Given the description of an element on the screen output the (x, y) to click on. 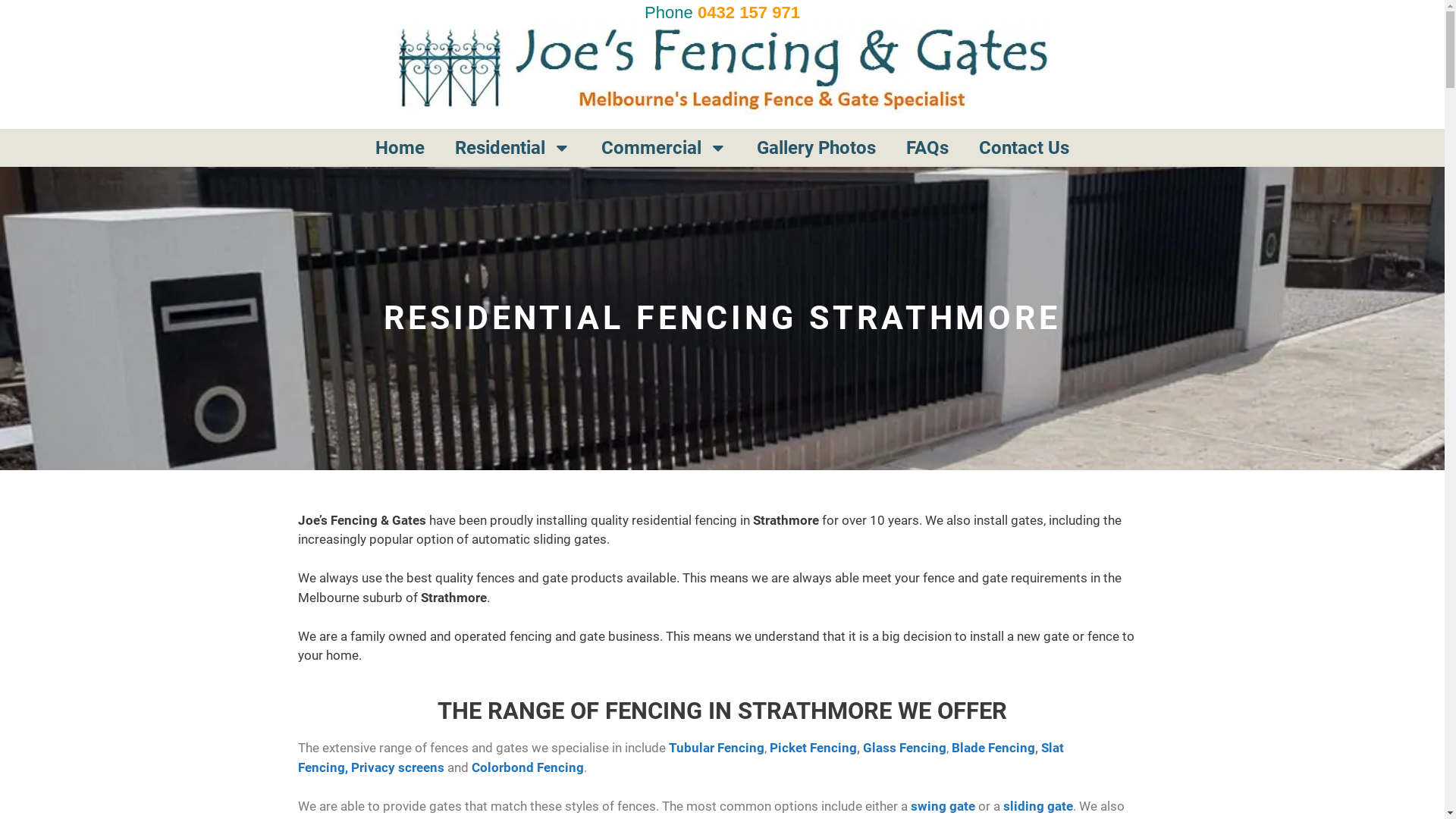
Blade Fencing Element type: text (992, 747)
FAQs Element type: text (958, 147)
cropped-joesicon.jpg Element type: hover (300, 147)
Contact Us Element type: text (1055, 147)
0432 157 971 Element type: text (748, 12)
Glass Fencing Element type: text (904, 747)
Tubular Fencing Element type: text (716, 747)
 Fencing Element type: text (831, 747)
Home Element type: text (399, 147)
Residential Element type: text (543, 147)
Picket Element type: text (787, 747)
Home Element type: text (430, 147)
Gallery Photos Element type: text (816, 147)
Commercial Element type: text (695, 147)
Gallery Photos Element type: text (847, 147)
Colorbond Fencing Element type: text (527, 767)
sliding gate Element type: text (1037, 805)
Residential Element type: text (512, 147)
FAQs Element type: text (927, 147)
Contact Us Element type: text (1023, 147)
Slat Fencing, Element type: text (680, 757)
Commercial Element type: text (663, 147)
Privacy screens Element type: text (396, 767)
swing gate Element type: text (942, 805)
